Given the description of an element on the screen output the (x, y) to click on. 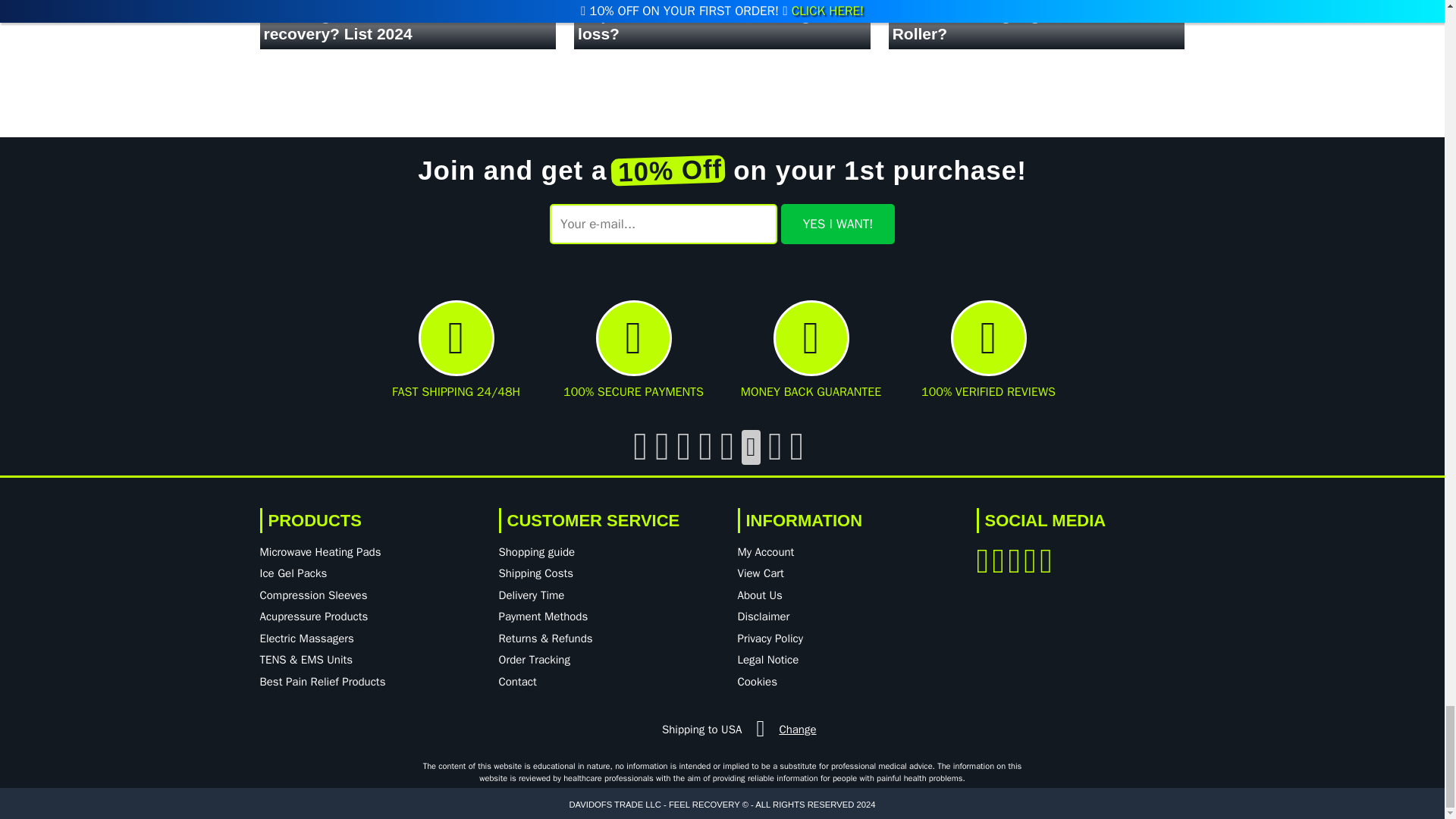
YES I WANT! (837, 223)
